Given the description of an element on the screen output the (x, y) to click on. 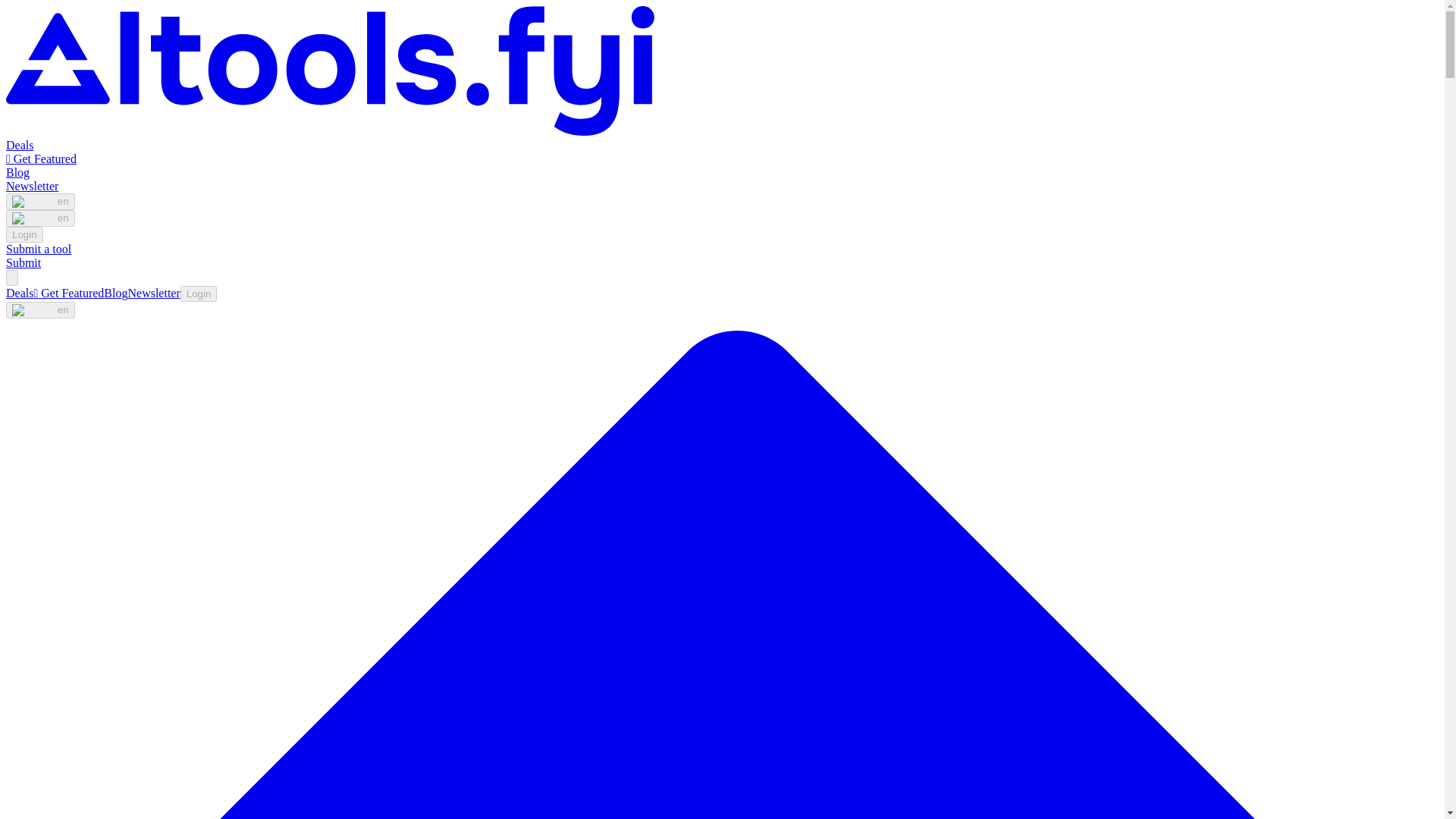
Blog (115, 292)
en (40, 217)
en (40, 201)
Deals (19, 144)
Newsletter (31, 185)
Login (24, 234)
Submit a tool (38, 248)
Newsletter (153, 292)
en (40, 310)
Login (198, 293)
